Given the description of an element on the screen output the (x, y) to click on. 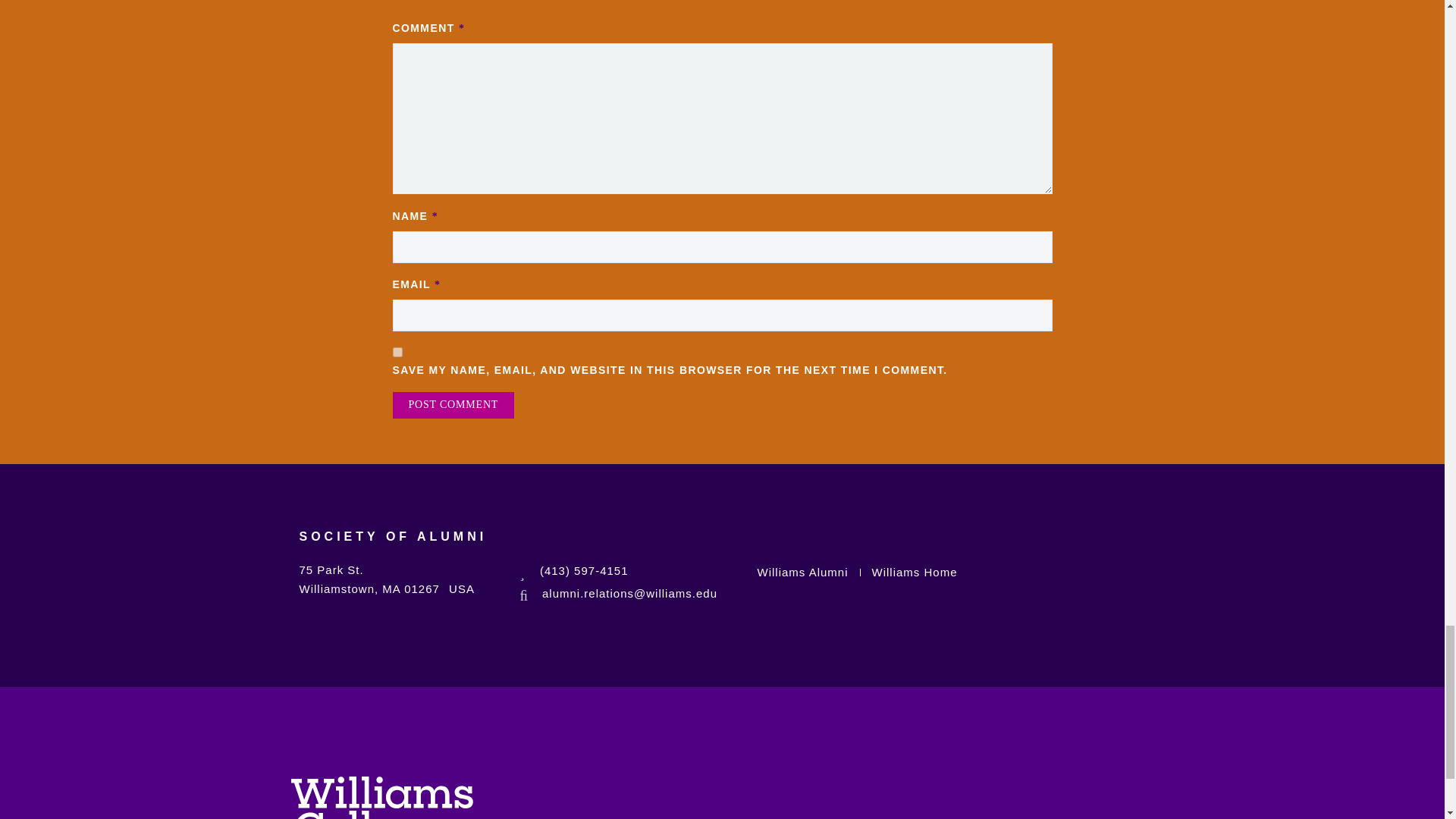
Go to Williams College (382, 794)
SOCIETY OF ALUMNI (392, 546)
Post Comment (454, 405)
Go to Society of Alumni (392, 546)
Williams College (382, 797)
yes (398, 352)
Post Comment (454, 405)
